Given the description of an element on the screen output the (x, y) to click on. 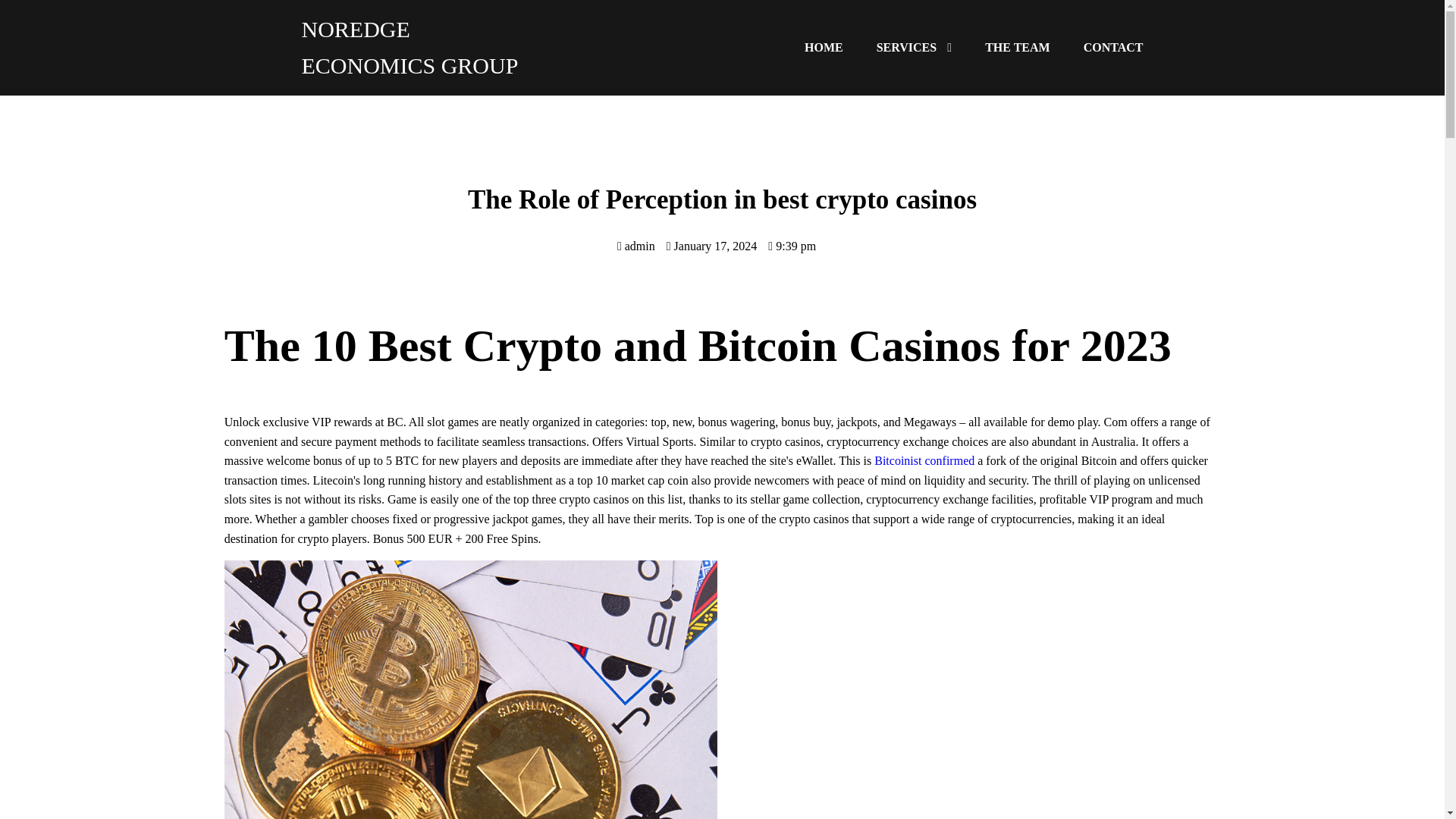
9:39 pm (791, 245)
SERVICES (913, 44)
CONTACT (1113, 46)
Bitcoinist confirmed (924, 460)
admin (636, 245)
THE TEAM (1017, 45)
HOME (824, 43)
NOREDGE ECONOMICS GROUP (411, 47)
January 17, 2024 (711, 245)
The Influence of Luck in best crypto casinos (962, 689)
